Given the description of an element on the screen output the (x, y) to click on. 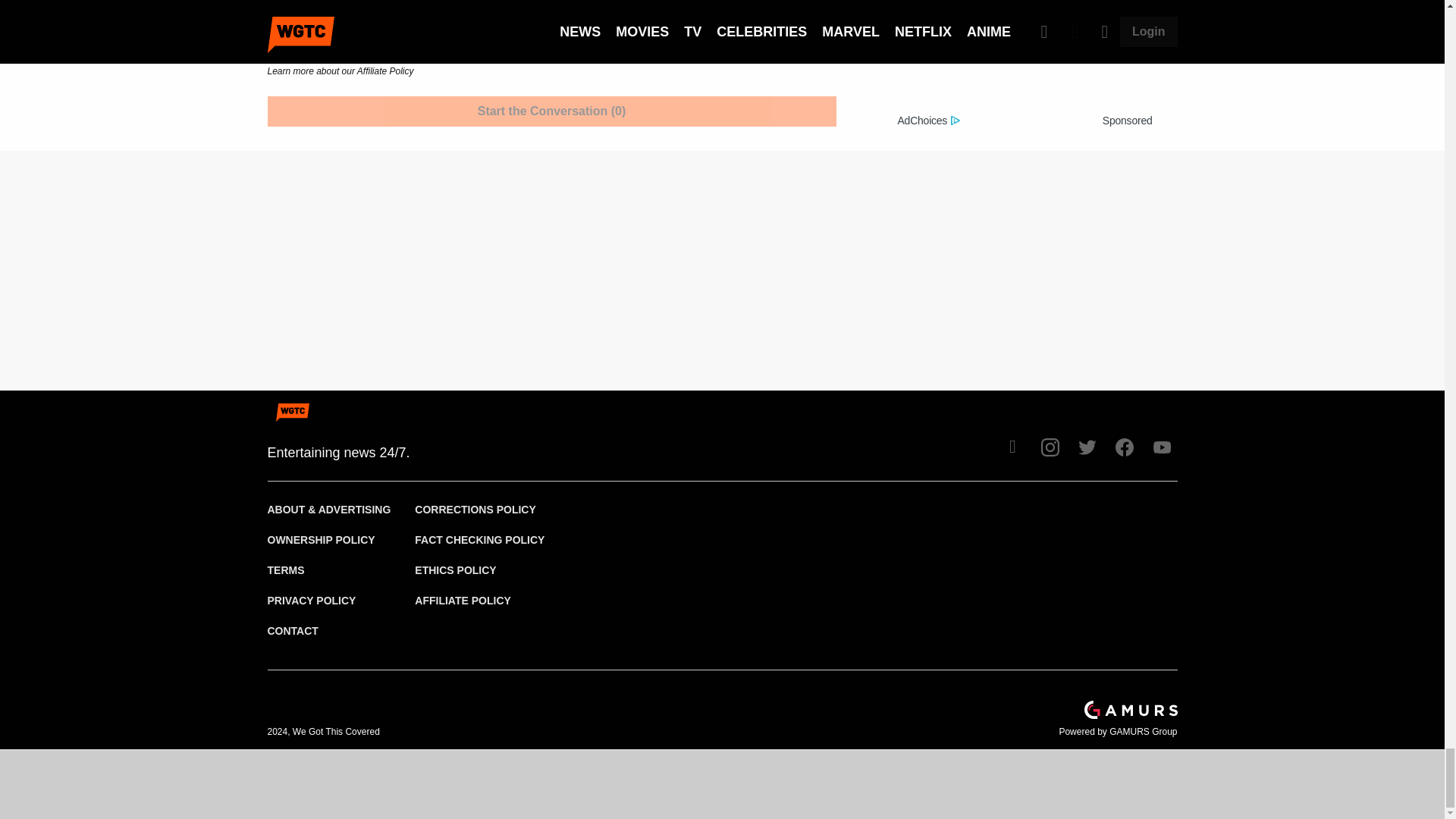
ad content (1025, 55)
